Given the description of an element on the screen output the (x, y) to click on. 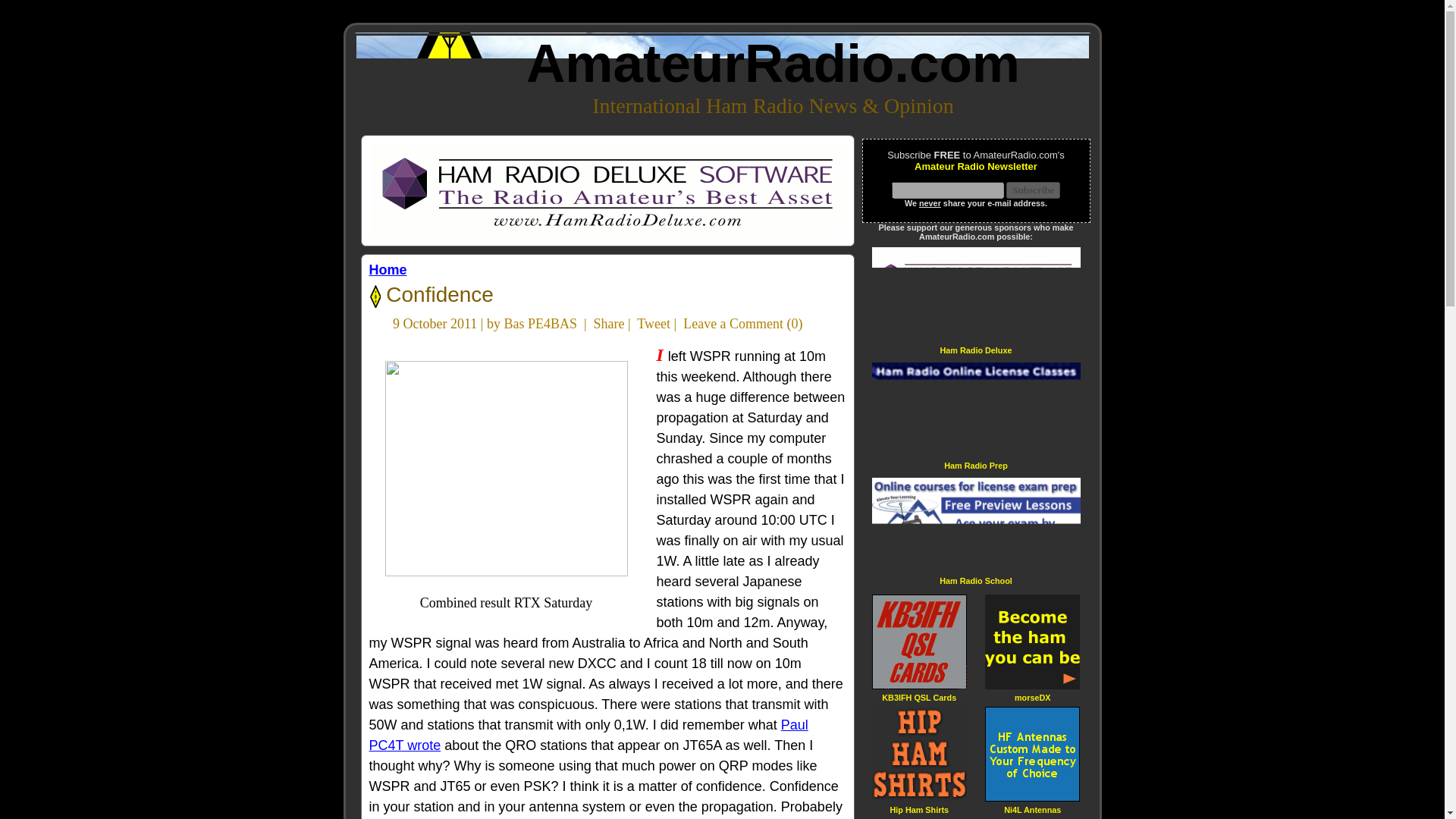
Home (387, 269)
AmateurRadio.com (772, 63)
KB3IFH QSL Cards (919, 696)
Confidence (436, 294)
Hip Ham Shirts (919, 808)
Ham Radio Deluxe (975, 349)
Confidence (436, 294)
Tweet (653, 323)
Subscribe (1032, 190)
Subscribe (1032, 190)
